Given the description of an element on the screen output the (x, y) to click on. 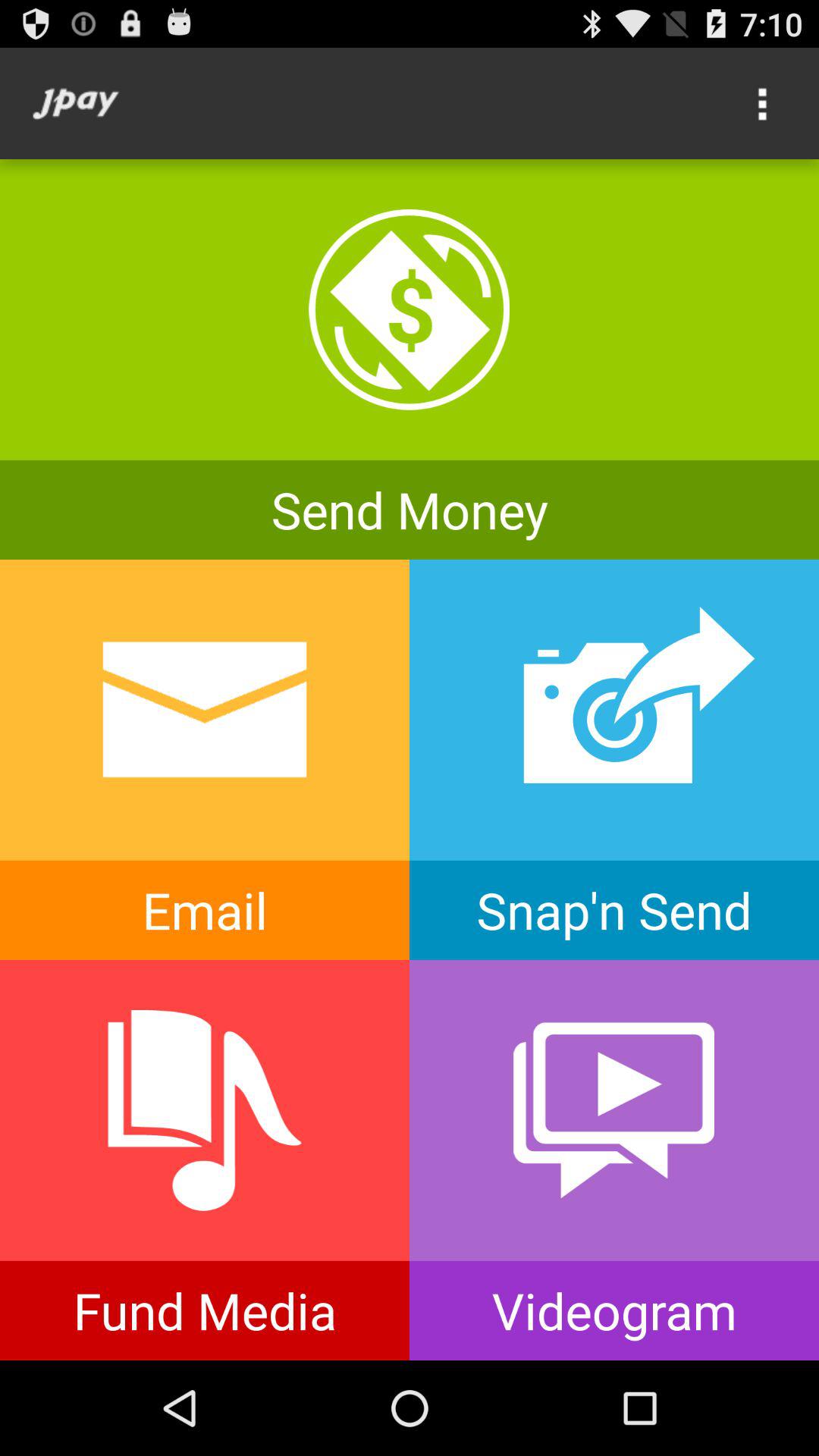
click on the icon above videogram (614, 1109)
